Given the description of an element on the screen output the (x, y) to click on. 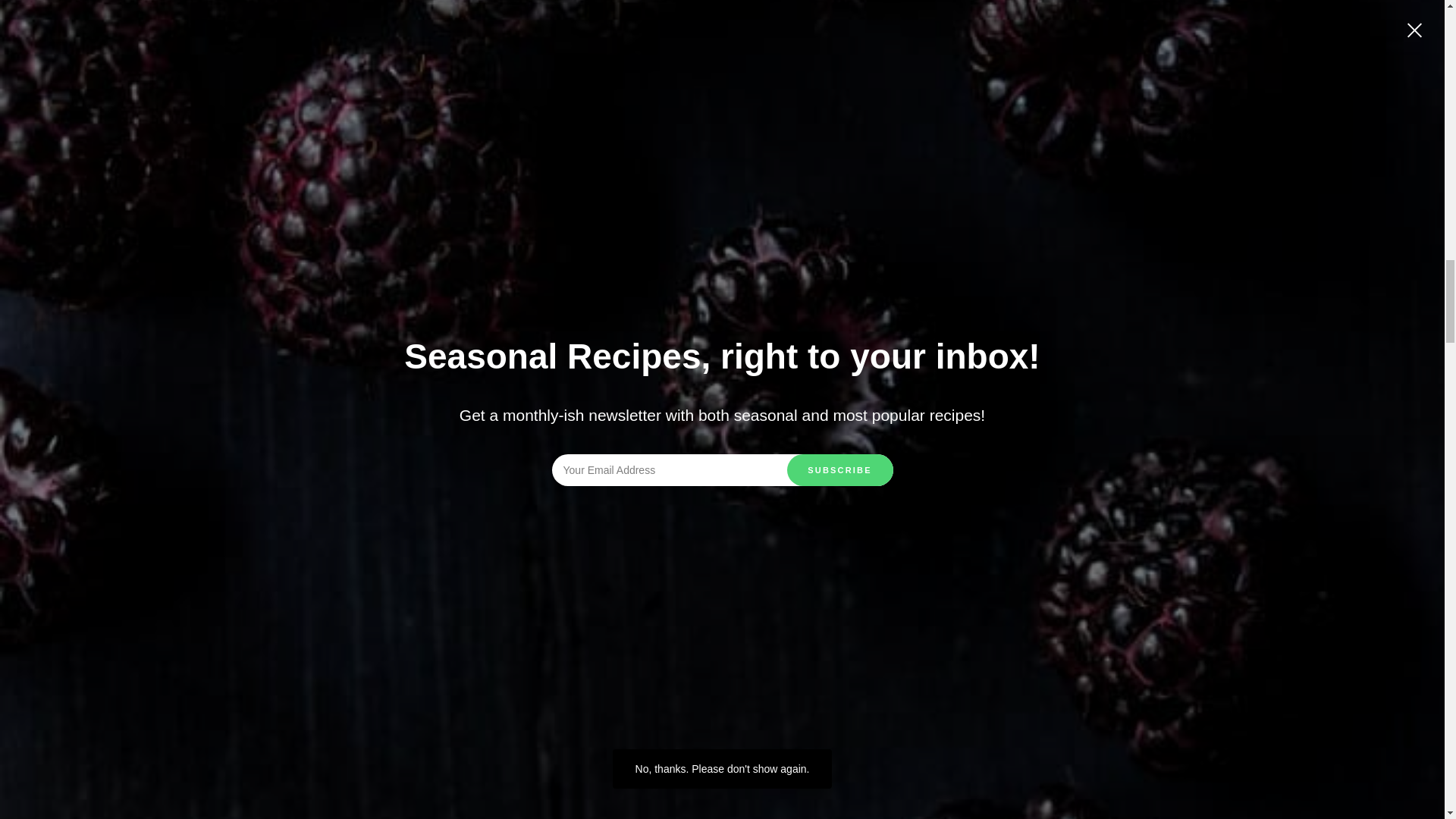
strawberry lemon cupcakes (738, 5)
Pin Recipe (767, 605)
Print Recipe (401, 604)
2x (268, 817)
3x (298, 817)
brown butter summer berry cake (588, 16)
1x (241, 817)
